Given the description of an element on the screen output the (x, y) to click on. 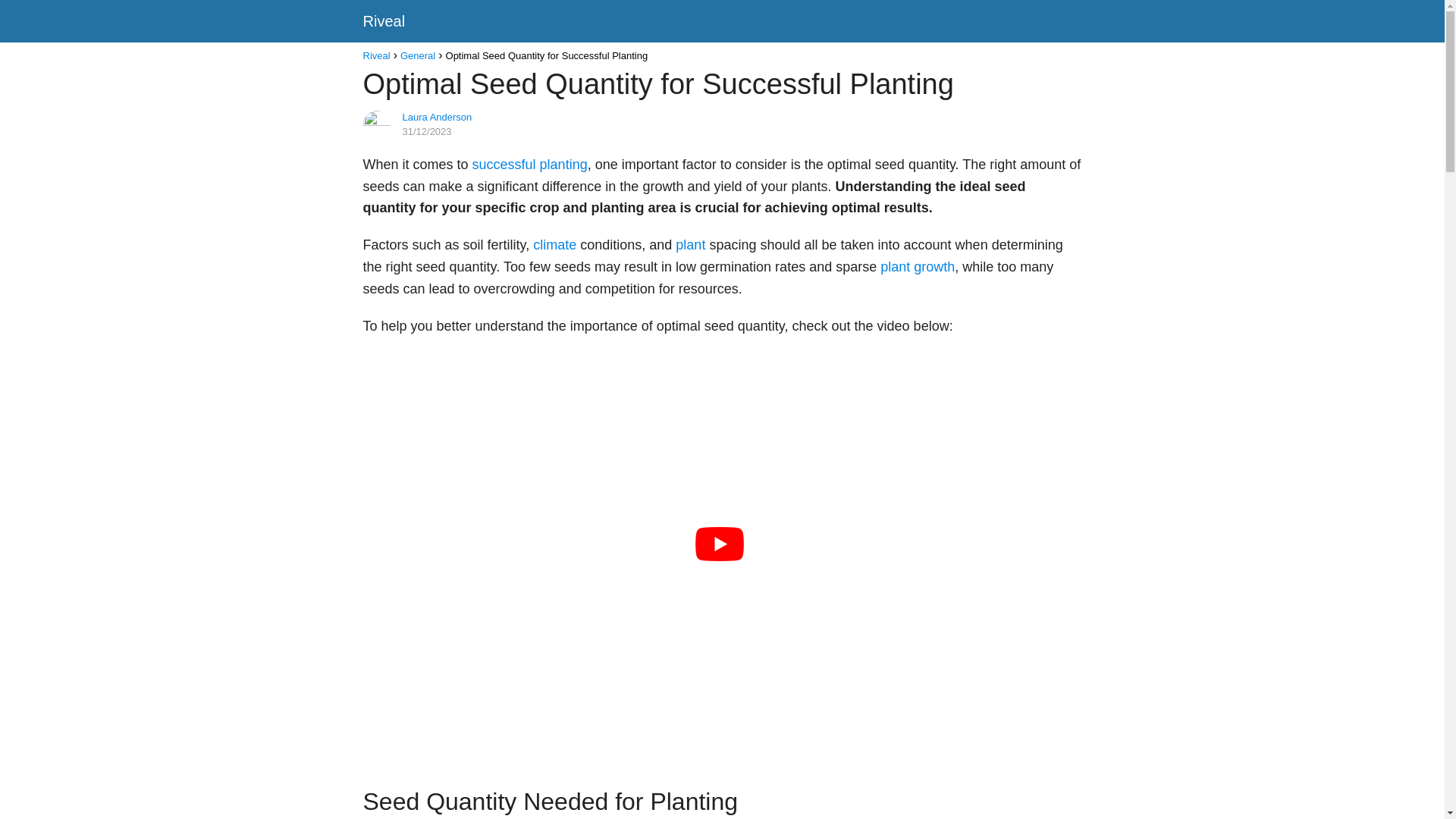
plant (689, 244)
Riveal (383, 21)
climate (554, 244)
successful planting (529, 164)
Riveal (376, 55)
plant growth (917, 266)
General (417, 55)
Laura Anderson (436, 116)
